Given the description of an element on the screen output the (x, y) to click on. 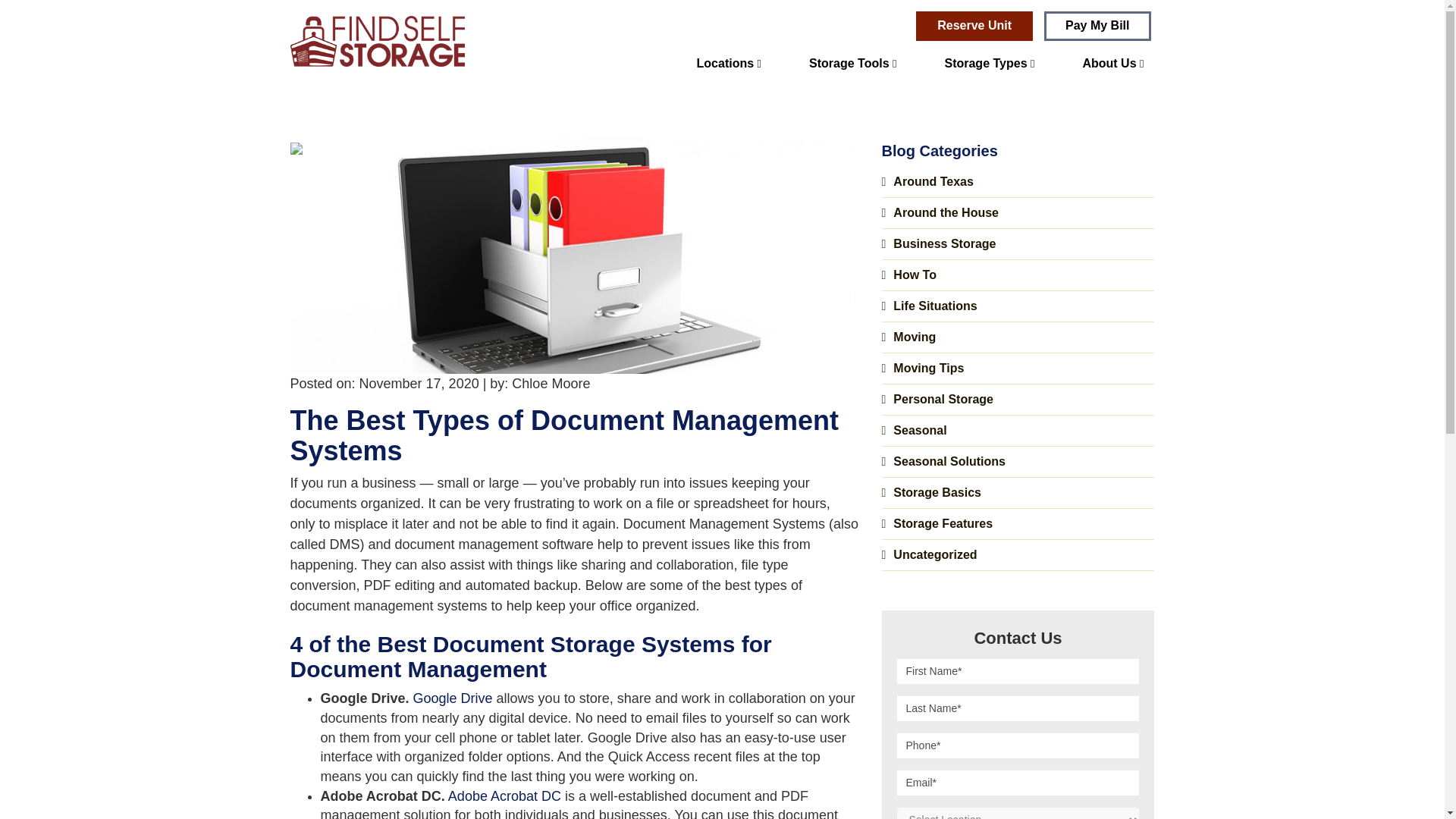
Storage Types (989, 63)
Storage Tools (852, 63)
Locations (729, 63)
